Given the description of an element on the screen output the (x, y) to click on. 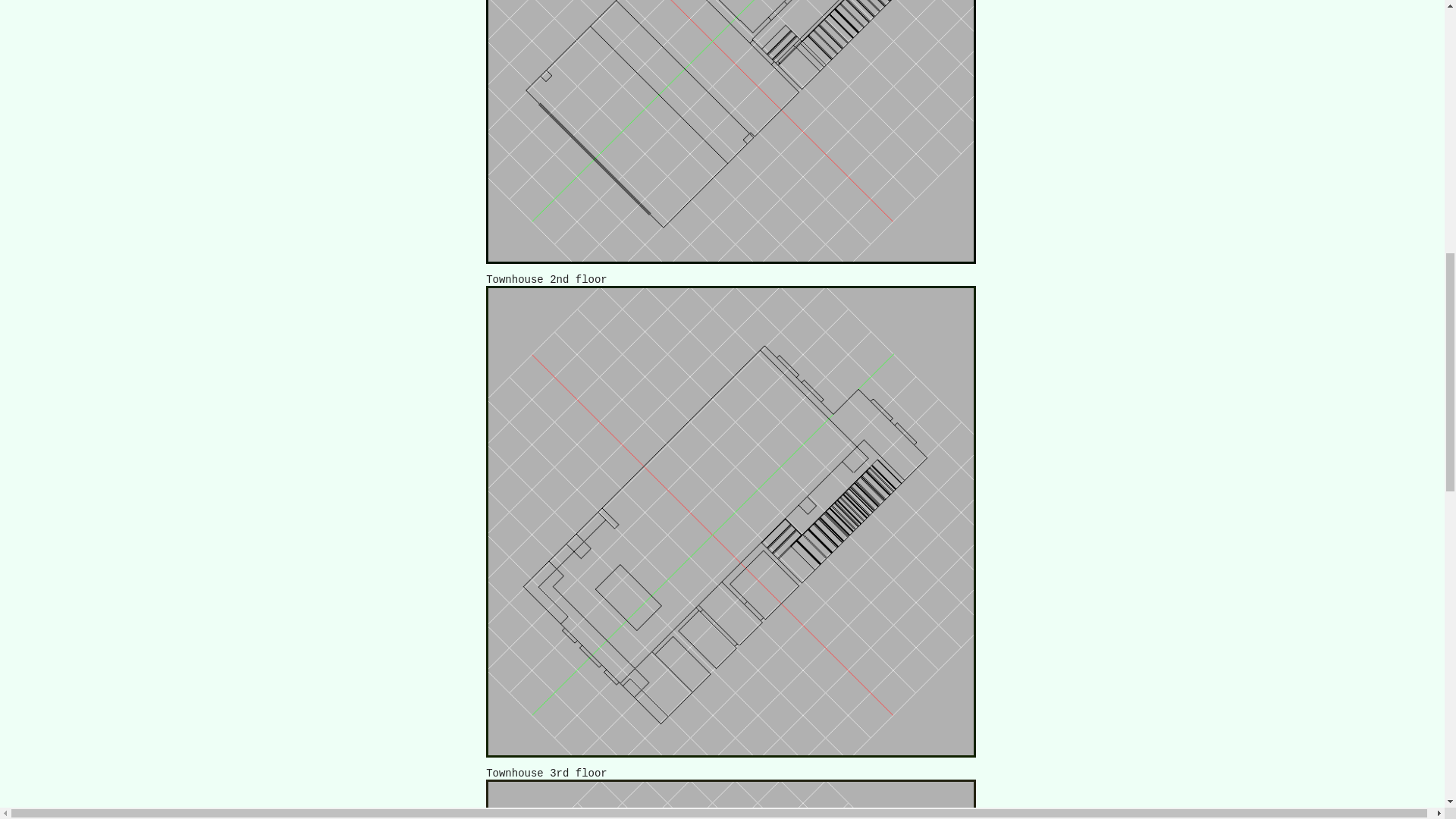
Floorplan, lvl 3 (730, 799)
Floorplan, lvl 1 (730, 132)
